Given the description of an element on the screen output the (x, y) to click on. 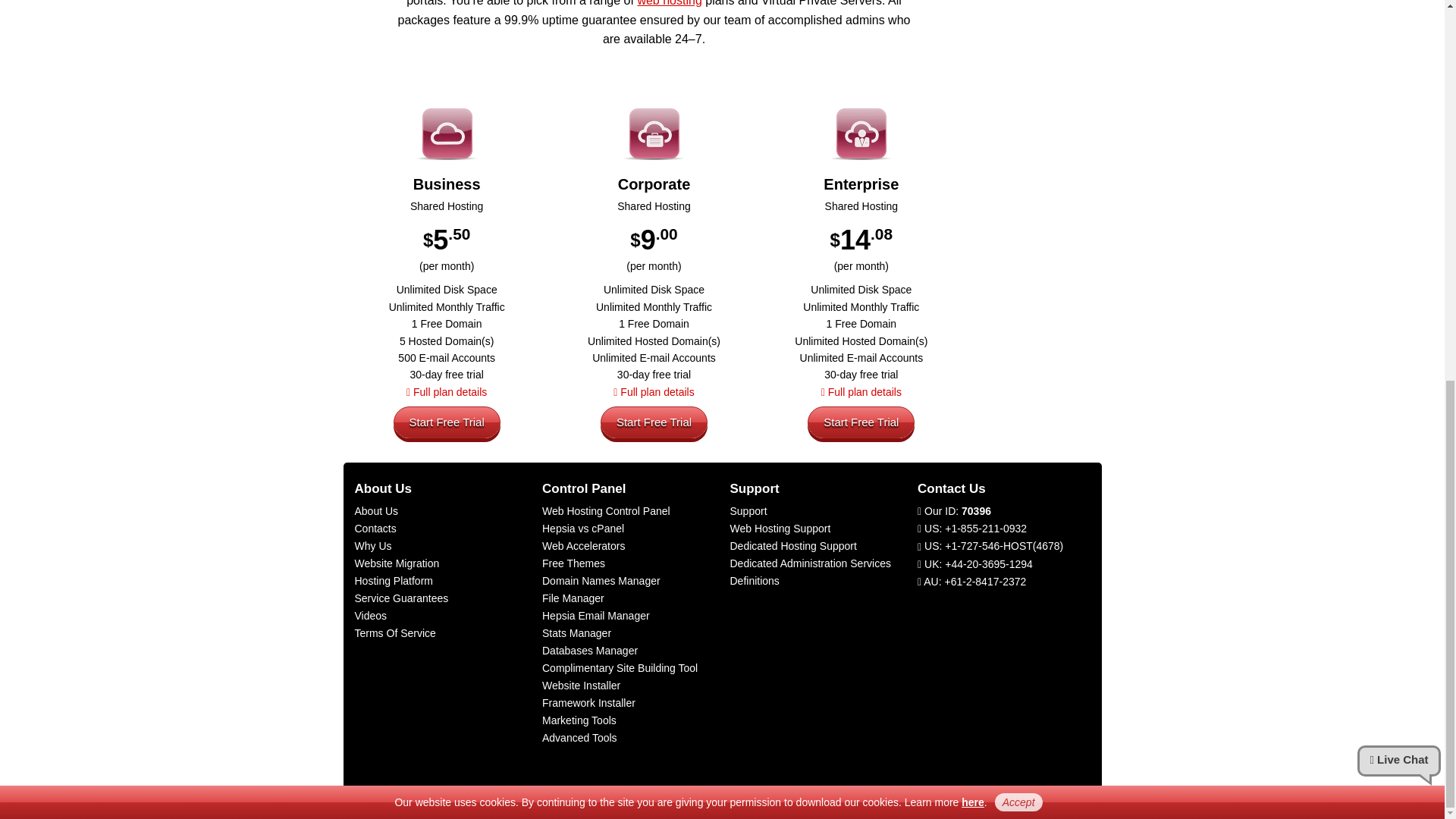
Full plan details (653, 391)
Full plan details (446, 391)
Enterprise Shared Hosting Plan Details (861, 391)
Business Shared Hosting Plan Details (446, 391)
web hosting (669, 3)
web hosting (669, 3)
Corporate (653, 181)
Live chat online (1398, 53)
Privacy Policy (972, 94)
Business (446, 181)
Corporate Shared Hosting Plan Details (653, 391)
Start Free Trial (446, 422)
